Given the description of an element on the screen output the (x, y) to click on. 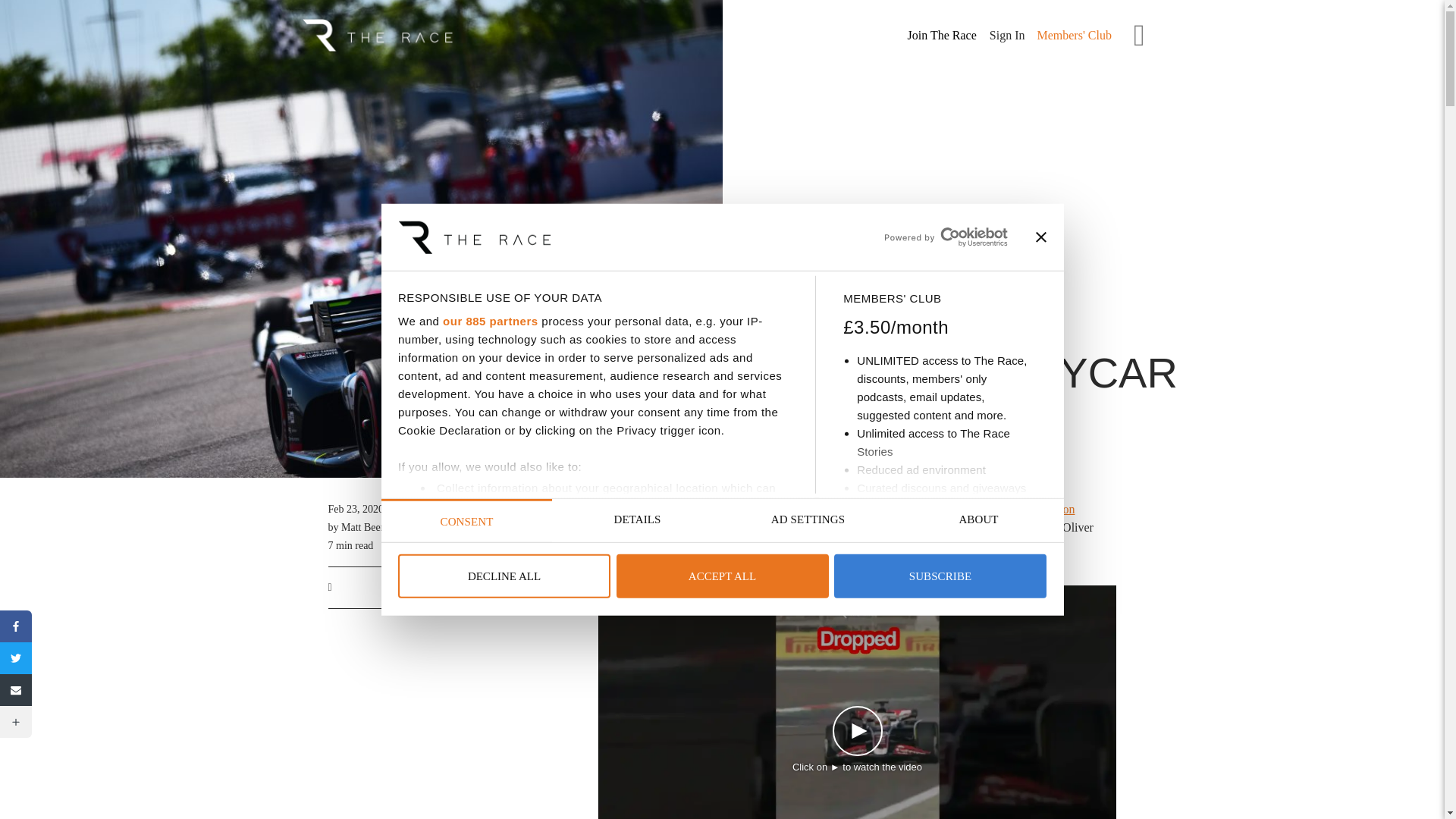
details section (542, 581)
DETAILS (636, 520)
CONSENT (465, 520)
ABOUT (978, 520)
our 885 partners (490, 320)
AD SETTINGS (807, 520)
